Given the description of an element on the screen output the (x, y) to click on. 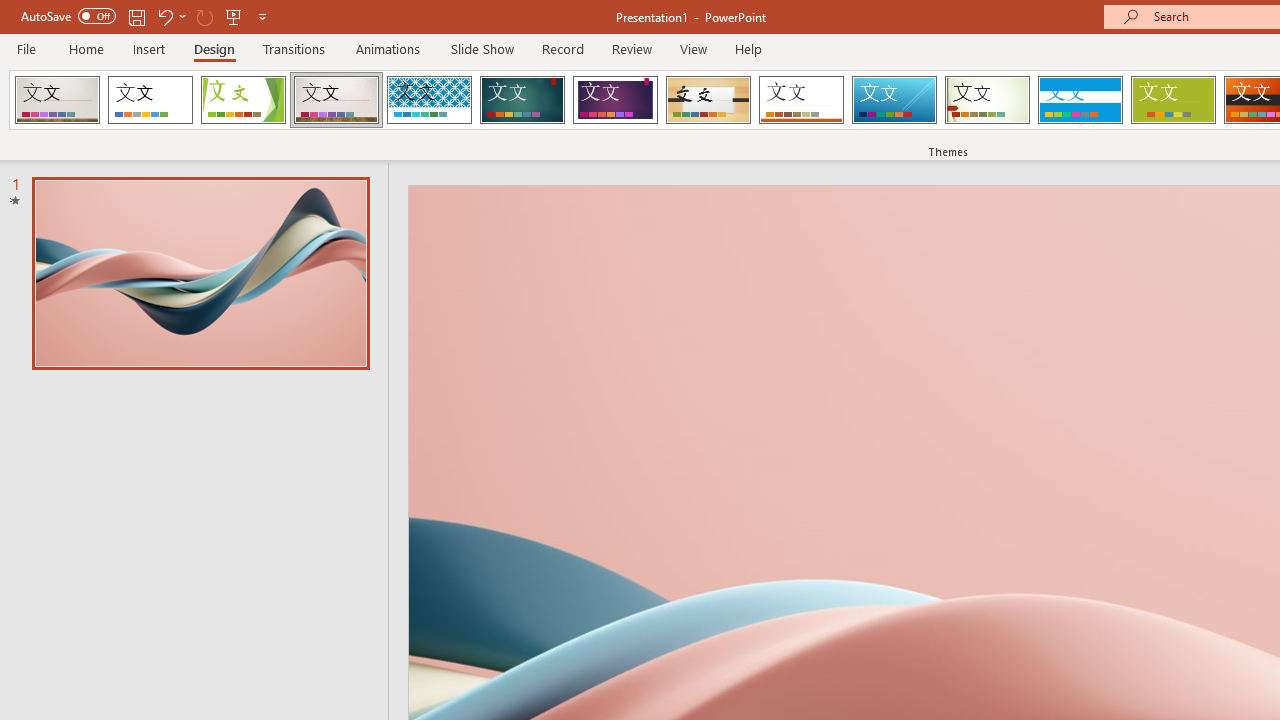
Integral (429, 100)
Wisp (987, 100)
Office Theme (150, 100)
Basis (1172, 100)
